Given the description of an element on the screen output the (x, y) to click on. 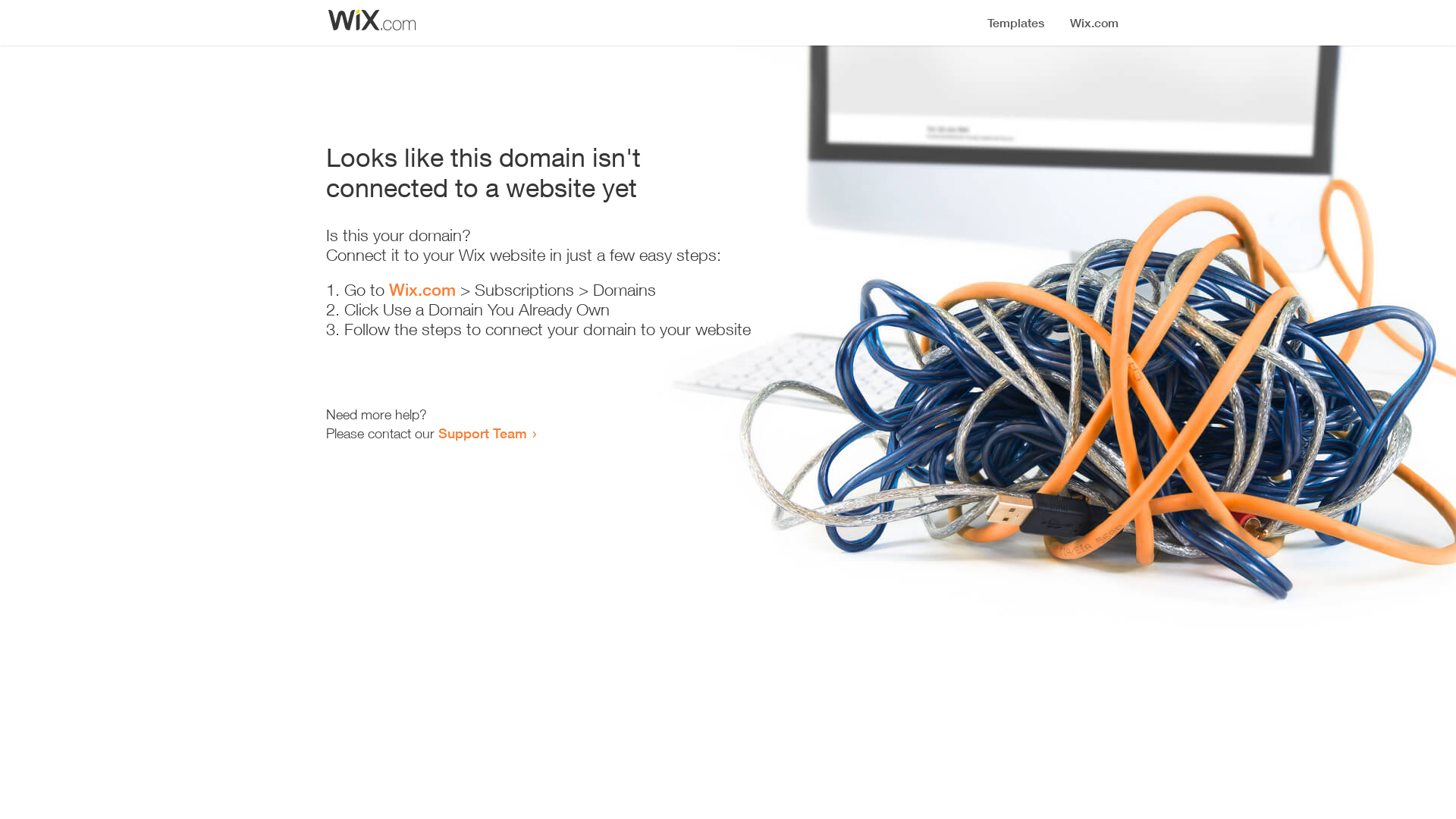
Wix.com Element type: text (422, 289)
Support Team Element type: text (482, 432)
